Given the description of an element on the screen output the (x, y) to click on. 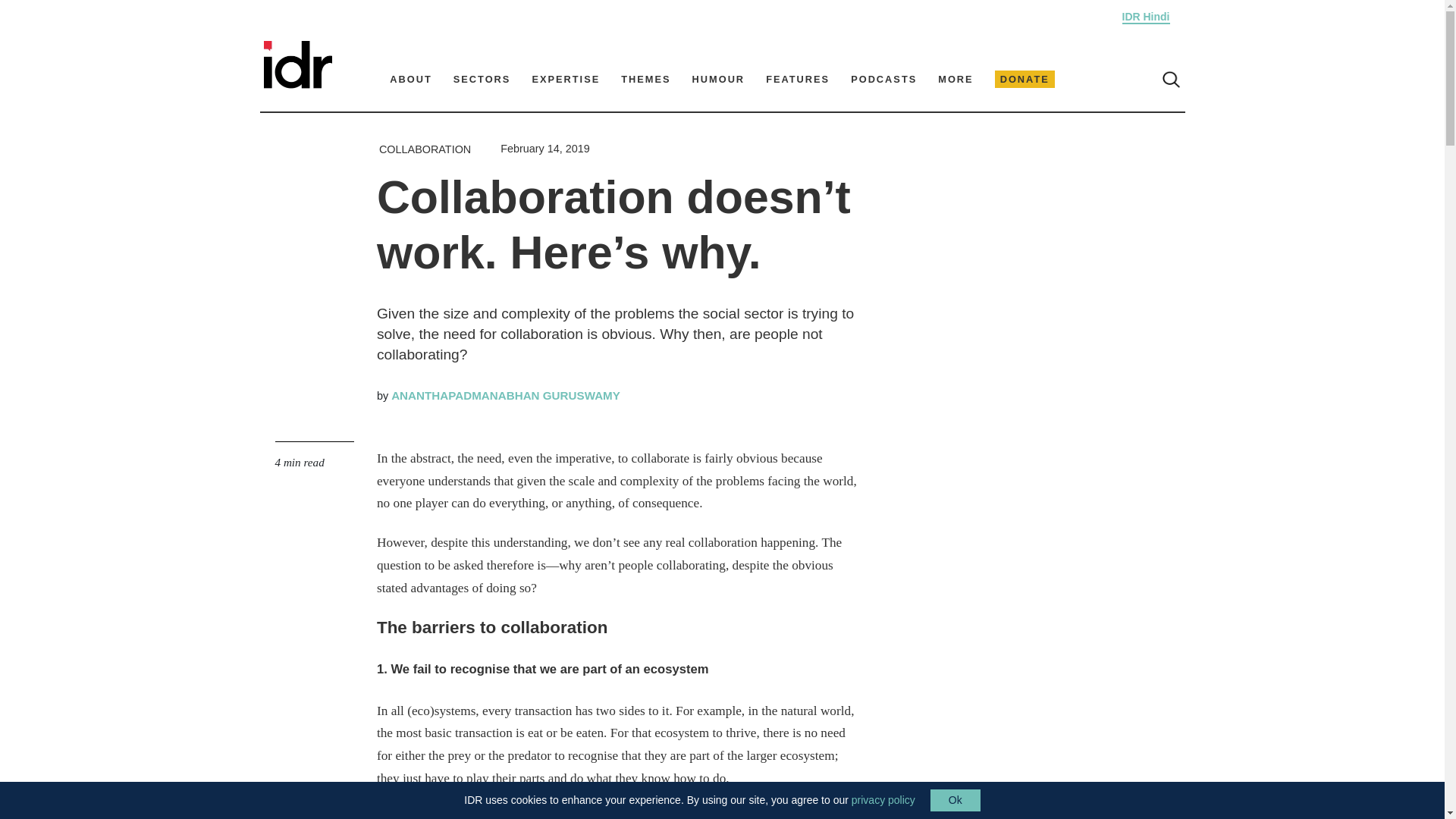
EXPERTISE (565, 79)
IDR Hindi (1146, 17)
SECTORS (481, 79)
THEMES (645, 79)
ABOUT (411, 79)
